Given the description of an element on the screen output the (x, y) to click on. 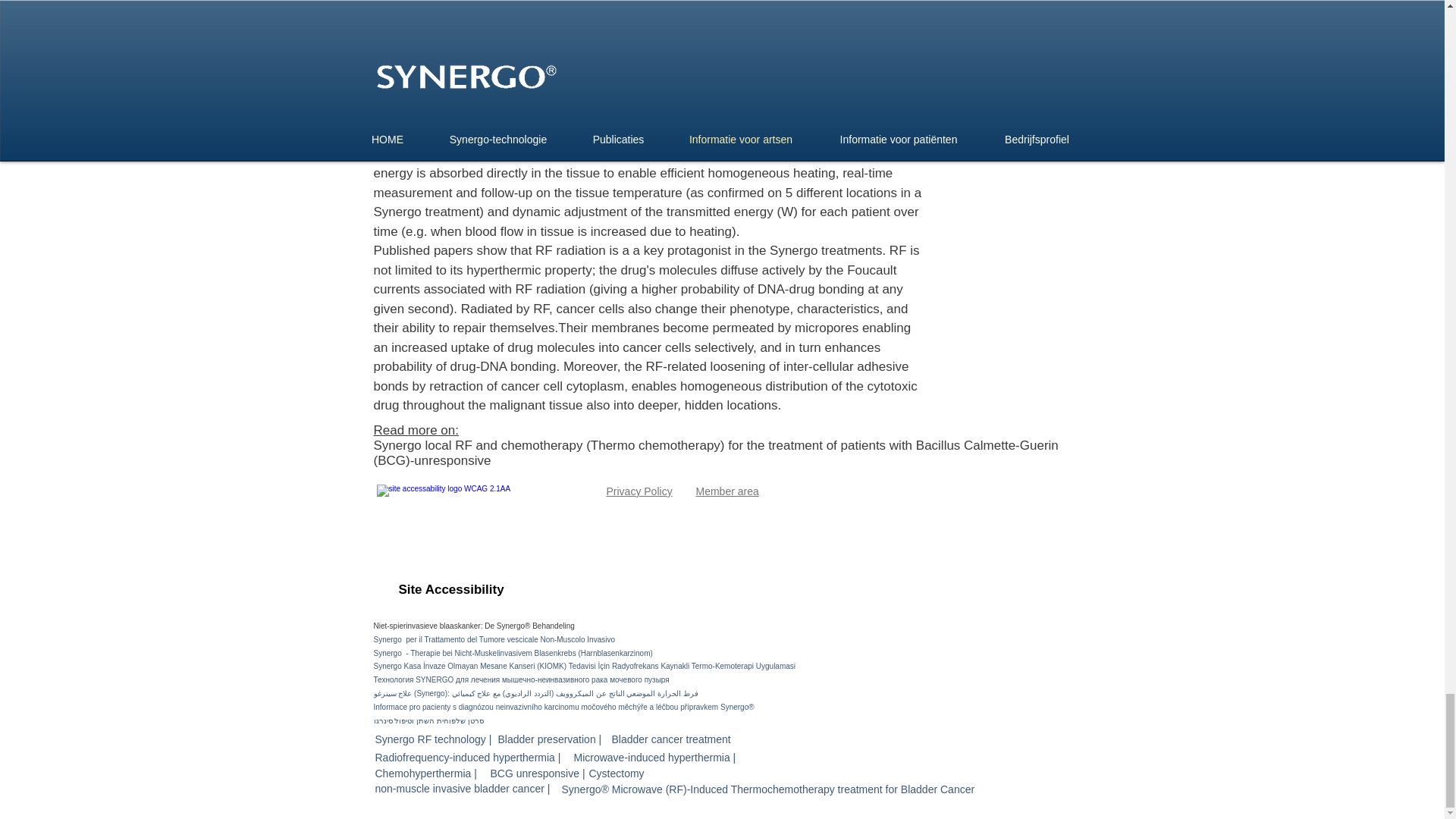
Site Accessibility (451, 589)
Read more on: (415, 430)
Member area (726, 491)
Privacy Policy (639, 491)
